Given the description of an element on the screen output the (x, y) to click on. 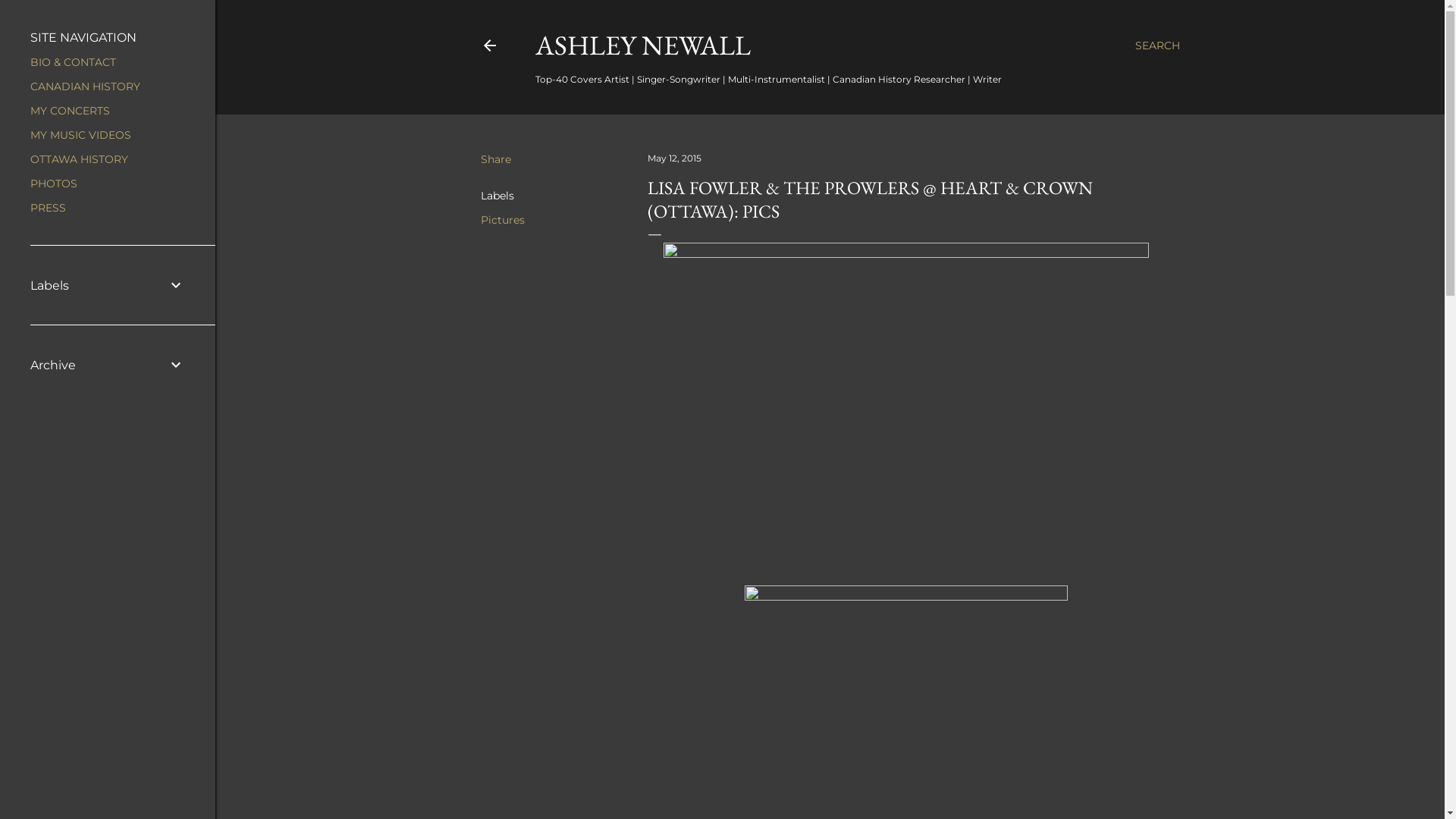
MY CONCERTS Element type: text (69, 110)
BIO & CONTACT Element type: text (73, 62)
May 12, 2015 Element type: text (674, 157)
MY MUSIC VIDEOS Element type: text (80, 134)
SEARCH Element type: text (1156, 45)
PRESS Element type: text (47, 207)
OTTAWA HISTORY Element type: text (79, 159)
Share Element type: text (495, 159)
PHOTOS Element type: text (53, 183)
CANADIAN HISTORY Element type: text (85, 86)
ASHLEY NEWALL Element type: text (642, 44)
Pictures Element type: text (502, 219)
